Given the description of an element on the screen output the (x, y) to click on. 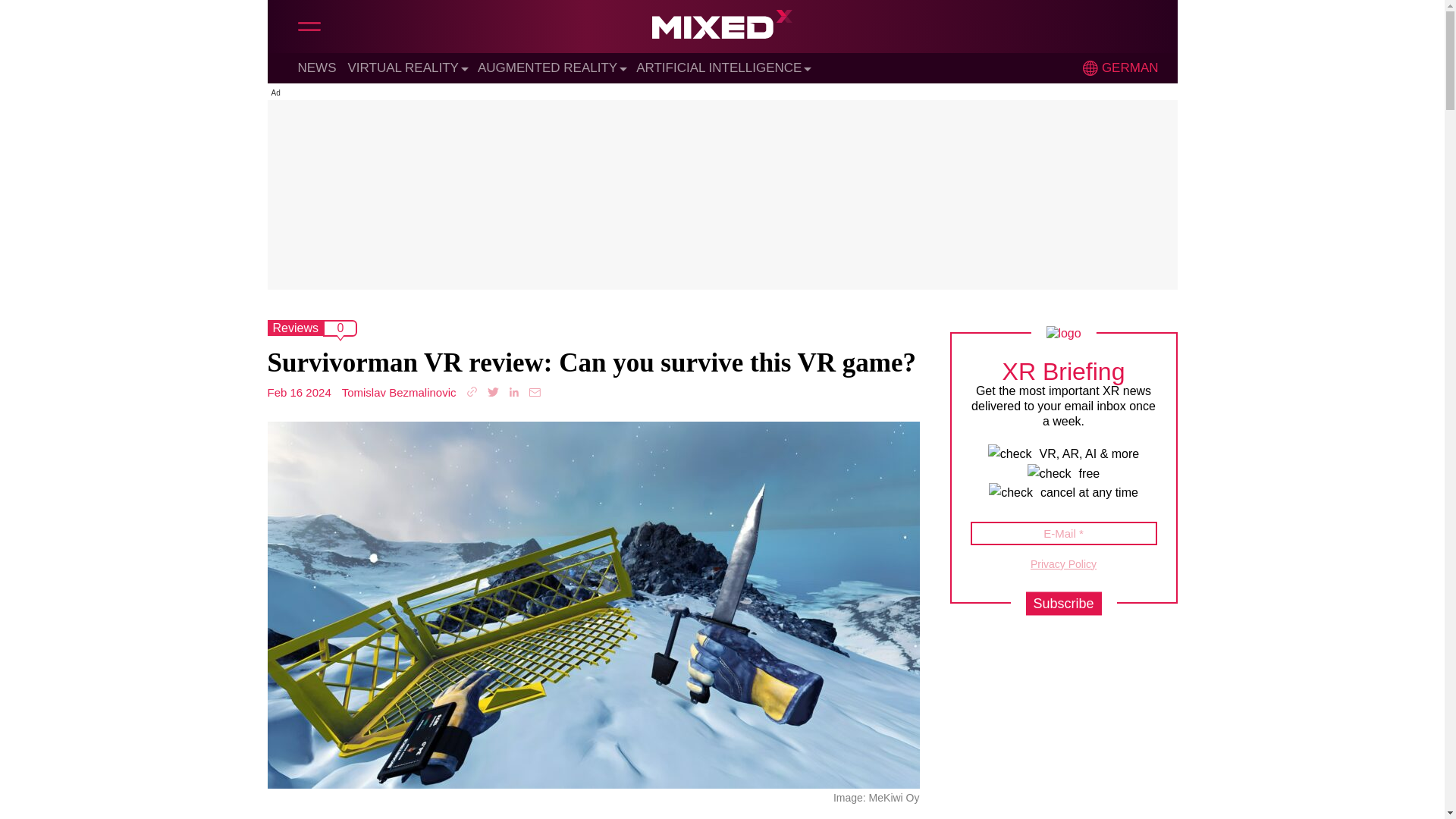
MIXED Reality News (722, 28)
ARTIFICIAL INTELLIGENCE (719, 67)
Subscribe (1062, 603)
NEWS (316, 67)
AUGMENTED REALITY (547, 67)
MIXED Reality News (722, 28)
Feb 16 2024 (298, 391)
VIRTUAL REALITY (402, 67)
german (1090, 68)
